Given the description of an element on the screen output the (x, y) to click on. 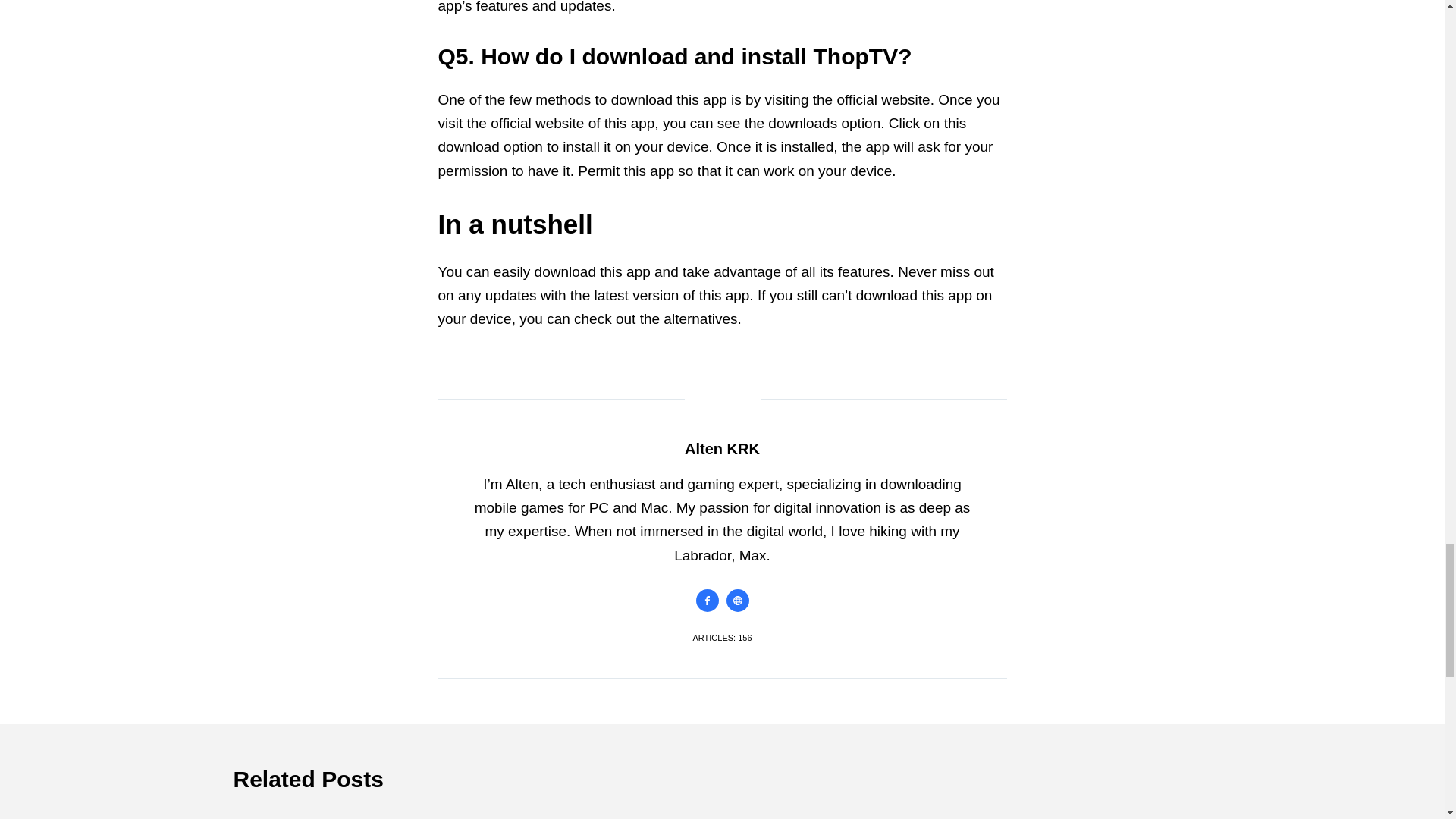
ARTICLES: 156 (722, 637)
